Given the description of an element on the screen output the (x, y) to click on. 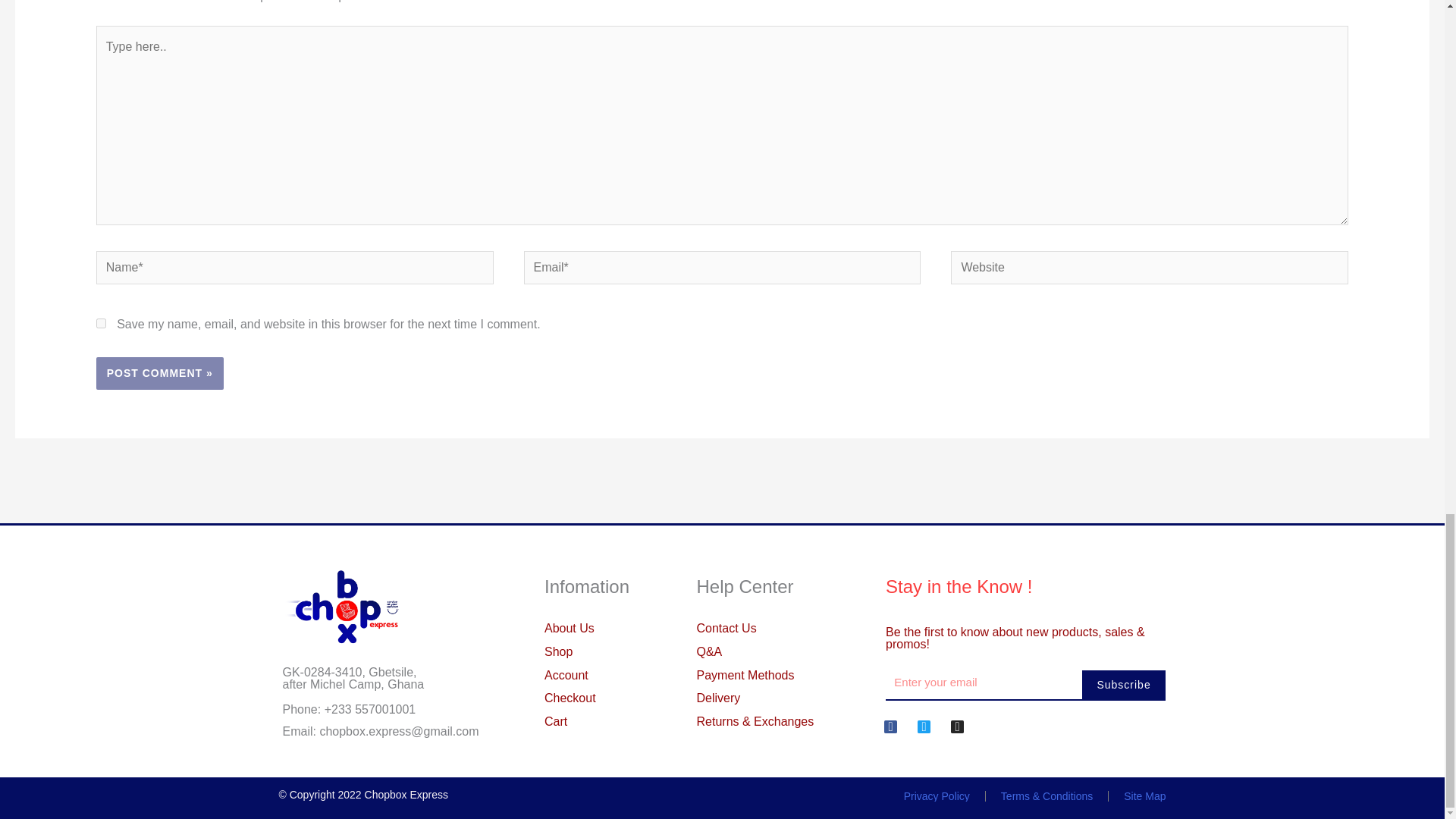
yes (101, 323)
Account (633, 675)
About Us (633, 628)
Contact Us (775, 628)
Cart (633, 721)
Checkout (633, 698)
Shop (633, 651)
